Given the description of an element on the screen output the (x, y) to click on. 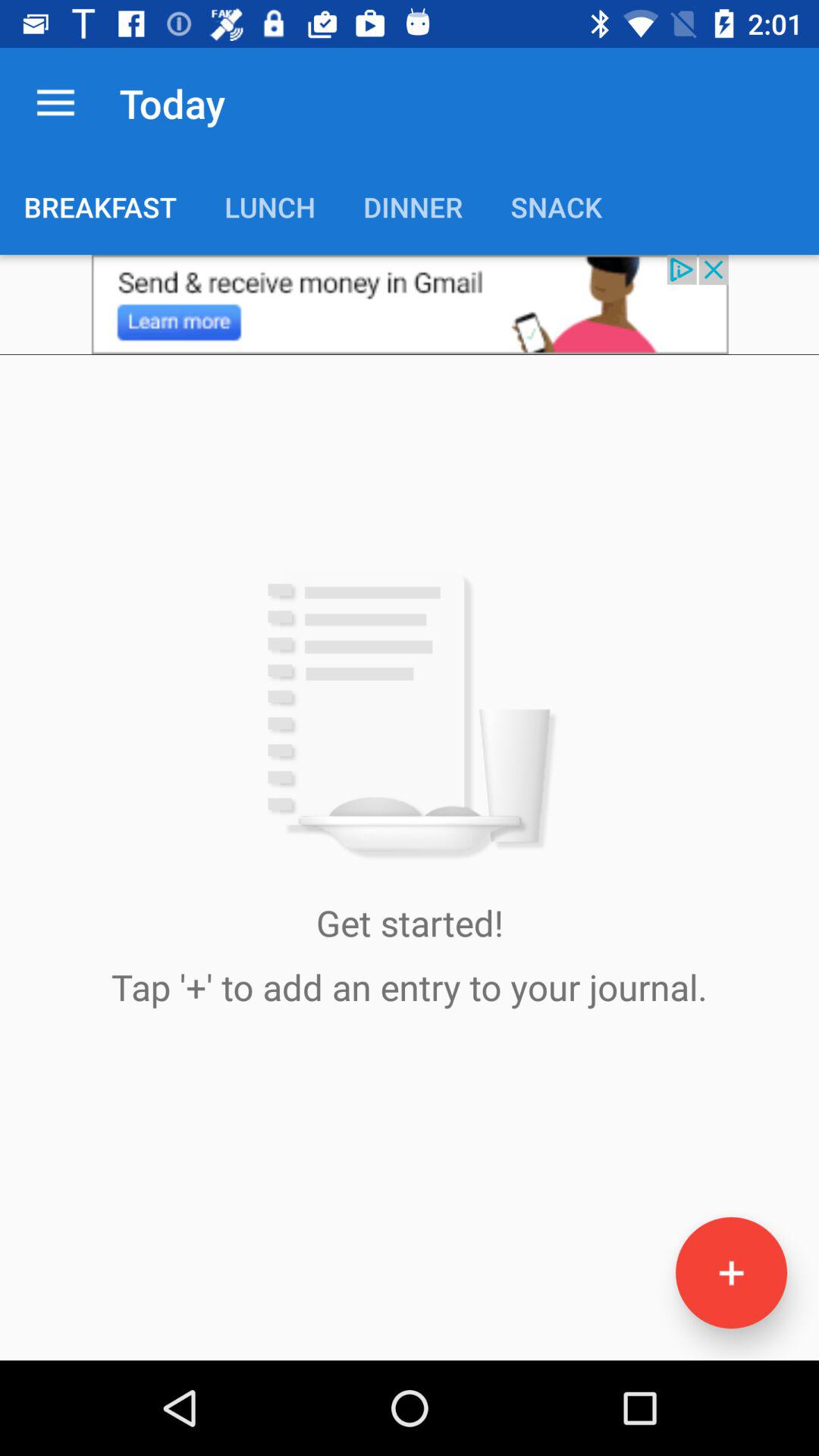
add item (731, 1272)
